Given the description of an element on the screen output the (x, y) to click on. 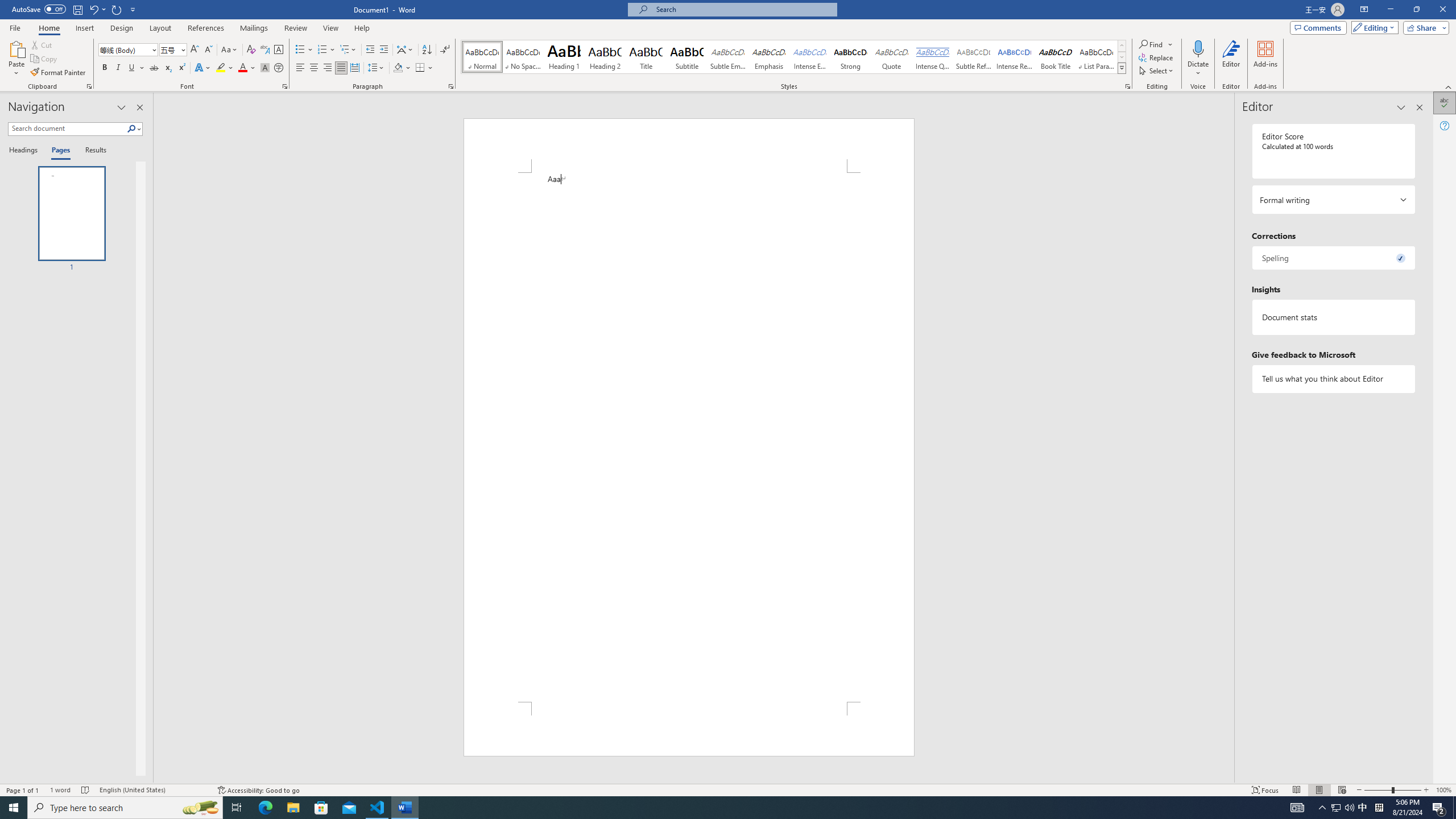
Paragraph... (450, 85)
Text Highlight Color Yellow (220, 67)
Font (124, 49)
Underline (131, 67)
Quick Access Toolbar (74, 9)
Align Right (327, 67)
Headings (25, 150)
Character Shading (264, 67)
Select (1157, 69)
Justify (340, 67)
Focus  (1265, 790)
Subtle Reference (973, 56)
Tell us what you think about Editor (1333, 379)
Open (182, 49)
